Given the description of an element on the screen output the (x, y) to click on. 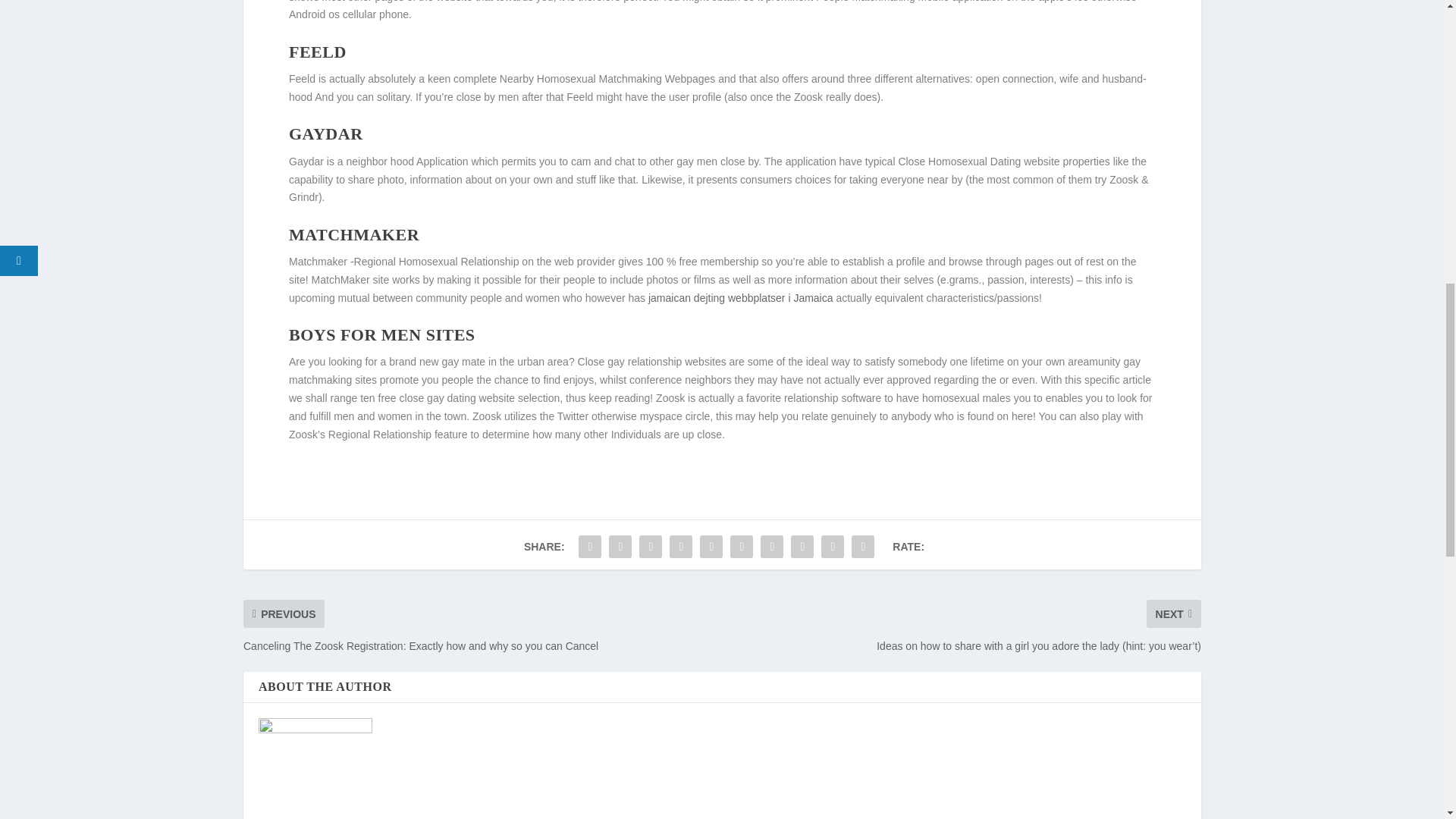
jamaican dejting webbplatser i Jamaica (739, 297)
